Given the description of an element on the screen output the (x, y) to click on. 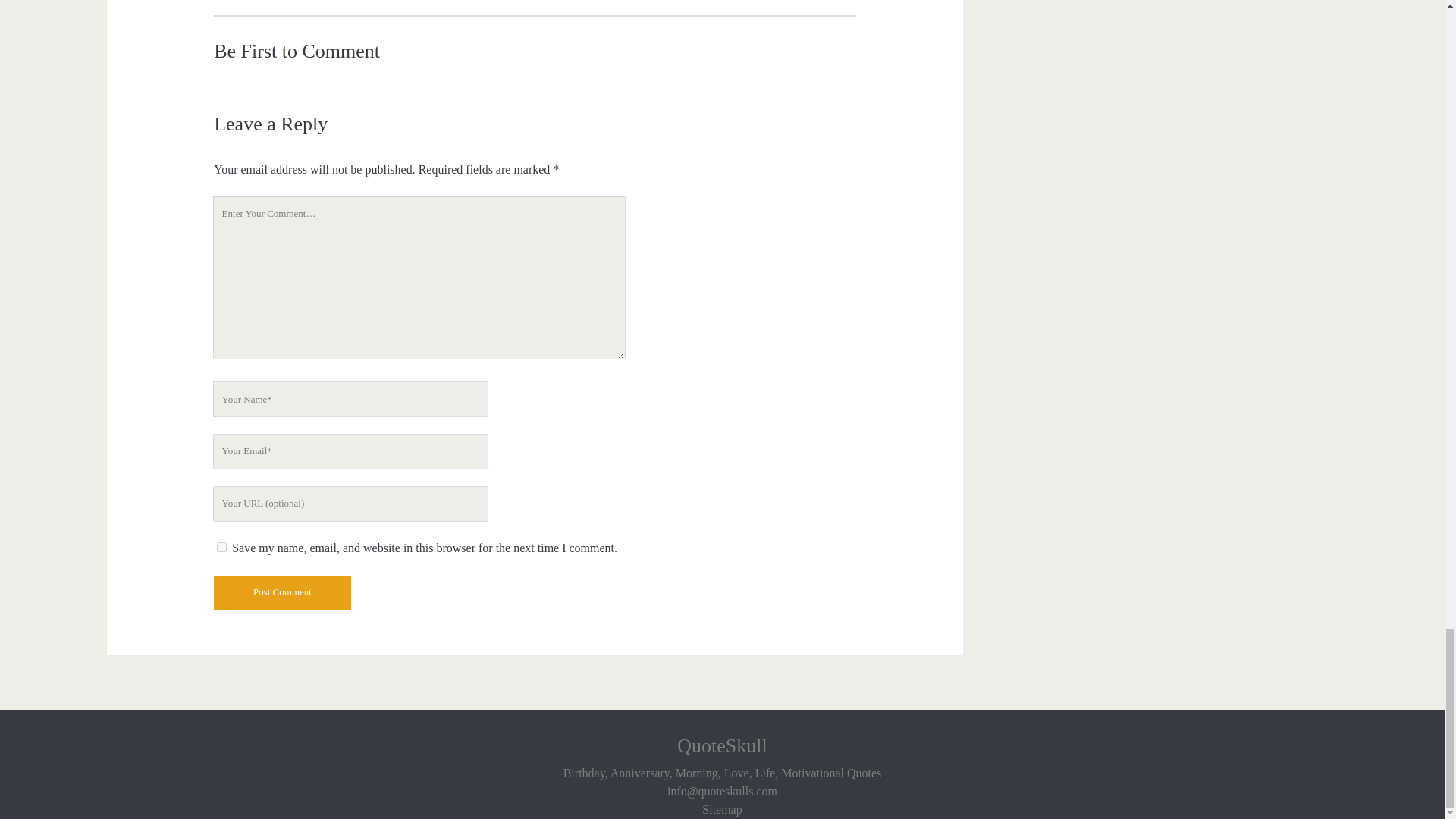
Post Comment (282, 592)
yes (221, 547)
Post Comment (282, 592)
